Given the description of an element on the screen output the (x, y) to click on. 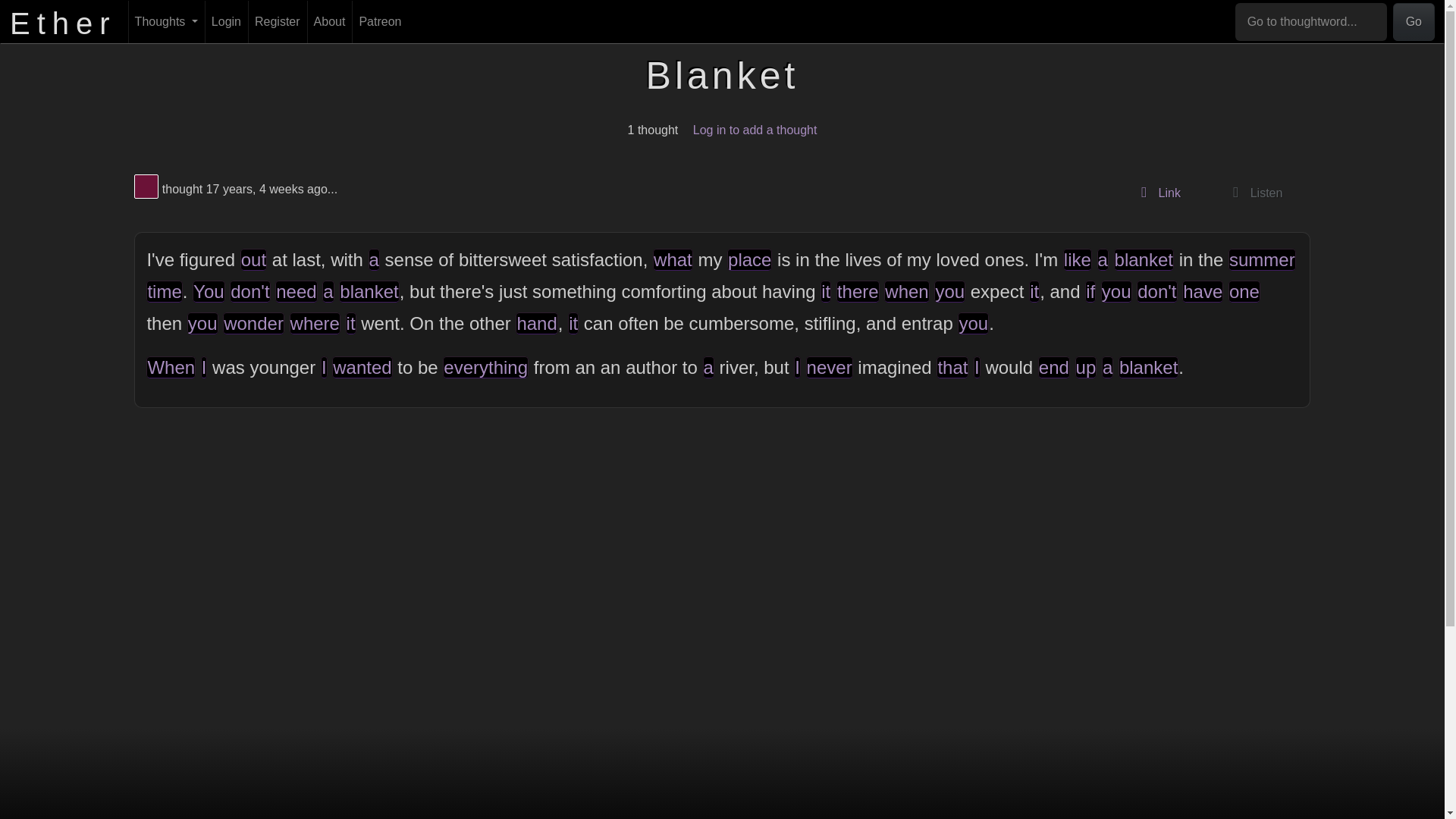
Listen (1253, 193)
Patreon (379, 21)
Ether (63, 21)
blanket (368, 291)
time (164, 291)
out (253, 259)
like (1077, 259)
Thoughts (166, 21)
when (905, 291)
what (672, 259)
Log in to add a thought (754, 129)
Login (226, 21)
don't (249, 291)
You (208, 291)
About (329, 21)
